Given the description of an element on the screen output the (x, y) to click on. 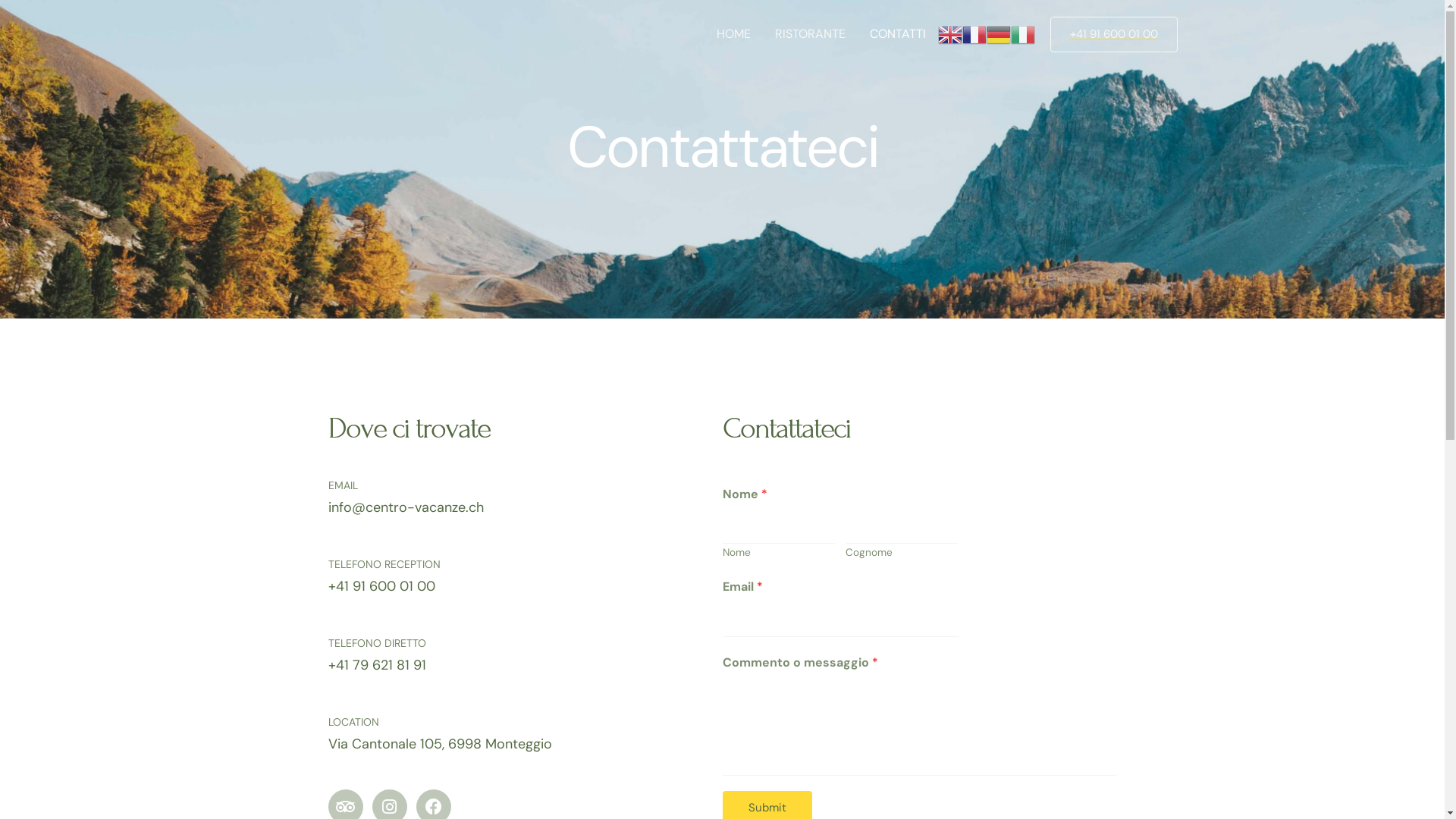
TELEFONO DIRETTO Element type: text (376, 642)
Italian Element type: hover (1022, 33)
German Element type: hover (997, 33)
LOCATION Element type: text (352, 721)
+41 91 600 01 00 Element type: text (1112, 34)
English Element type: hover (949, 33)
HOME Element type: text (732, 33)
RISTORANTE Element type: text (809, 33)
EMAIL Element type: text (342, 485)
French Element type: hover (973, 33)
CONTATTI Element type: text (896, 33)
TELEFONO RECEPTION Element type: text (383, 564)
